Given the description of an element on the screen output the (x, y) to click on. 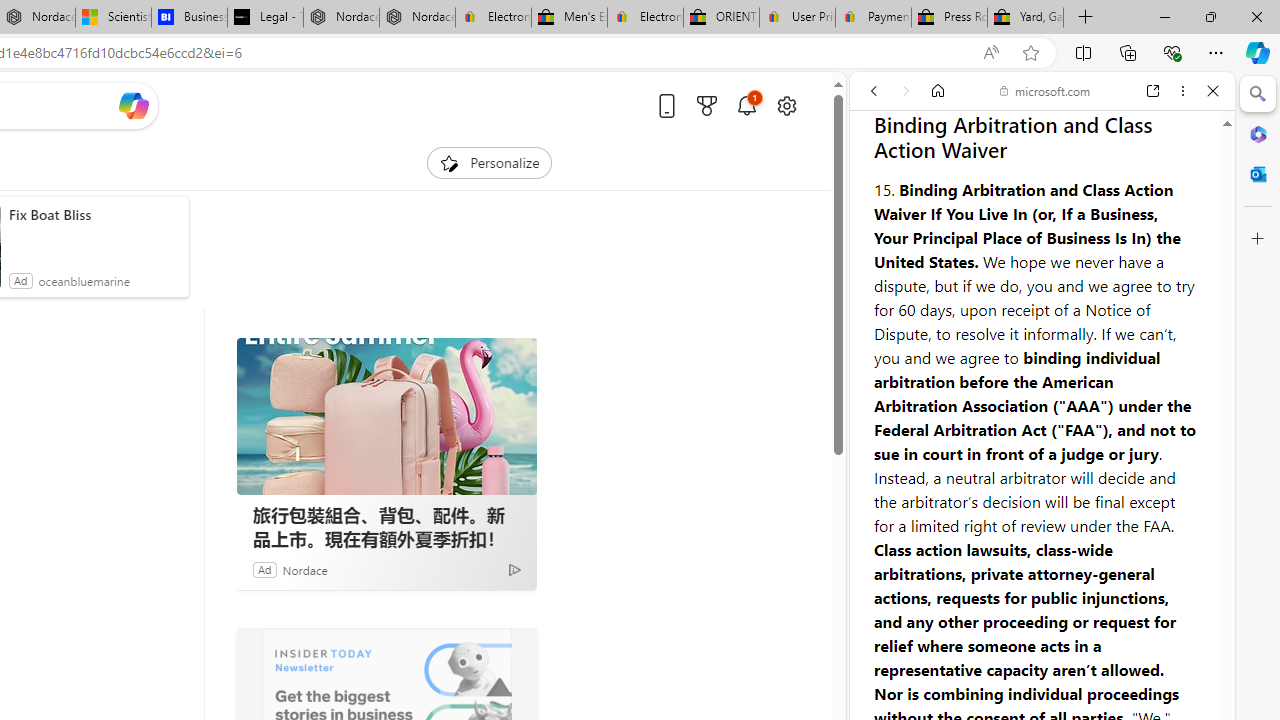
User Privacy Notice | eBay (797, 17)
Minimize Search pane (1258, 94)
oceanbluemarine (84, 280)
